Given the description of an element on the screen output the (x, y) to click on. 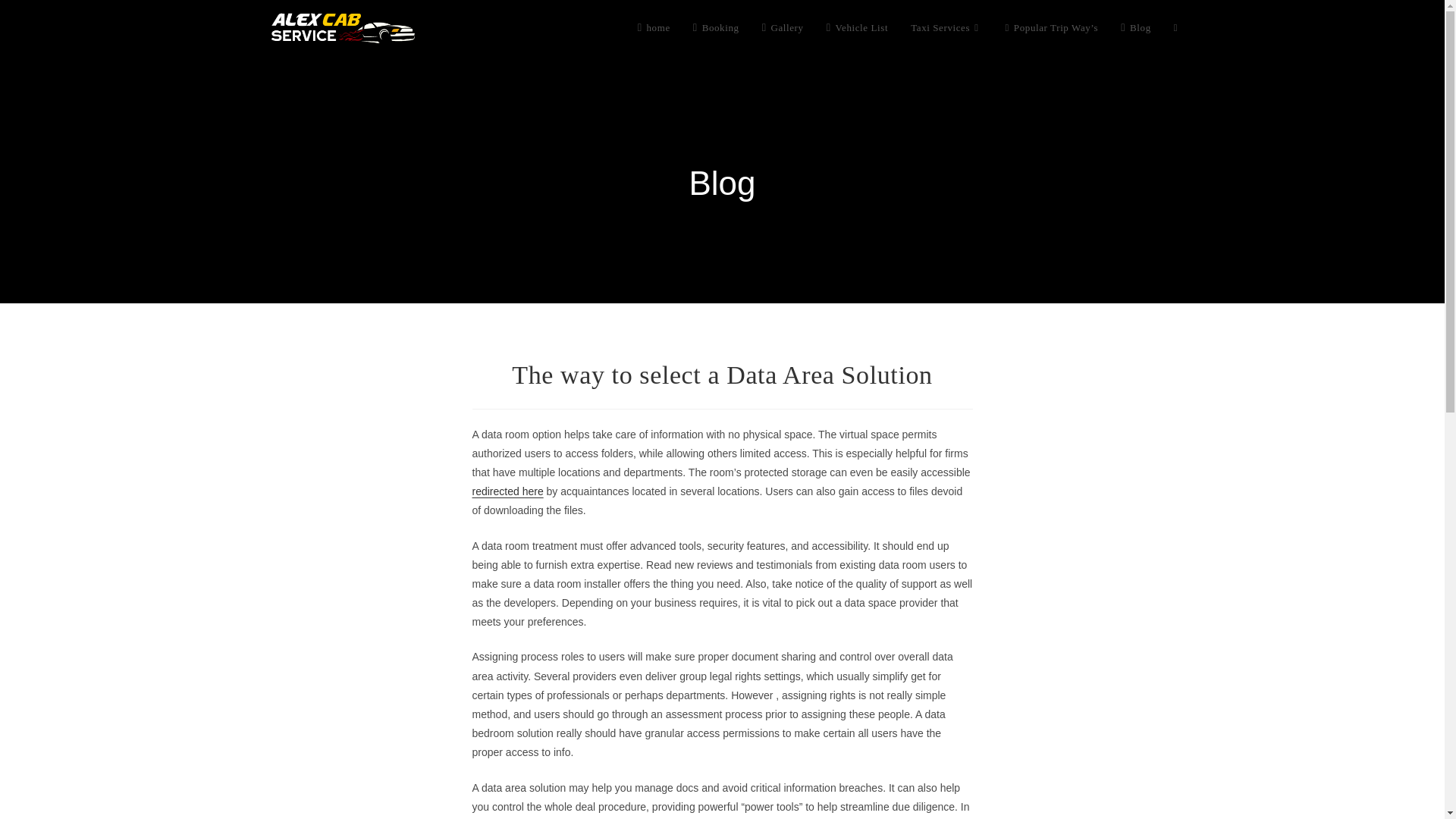
redirected here (507, 491)
home (653, 28)
Booking (716, 28)
Vehicle List (857, 28)
Gallery (783, 28)
Blog (1135, 28)
Taxi Services (945, 28)
